Given the description of an element on the screen output the (x, y) to click on. 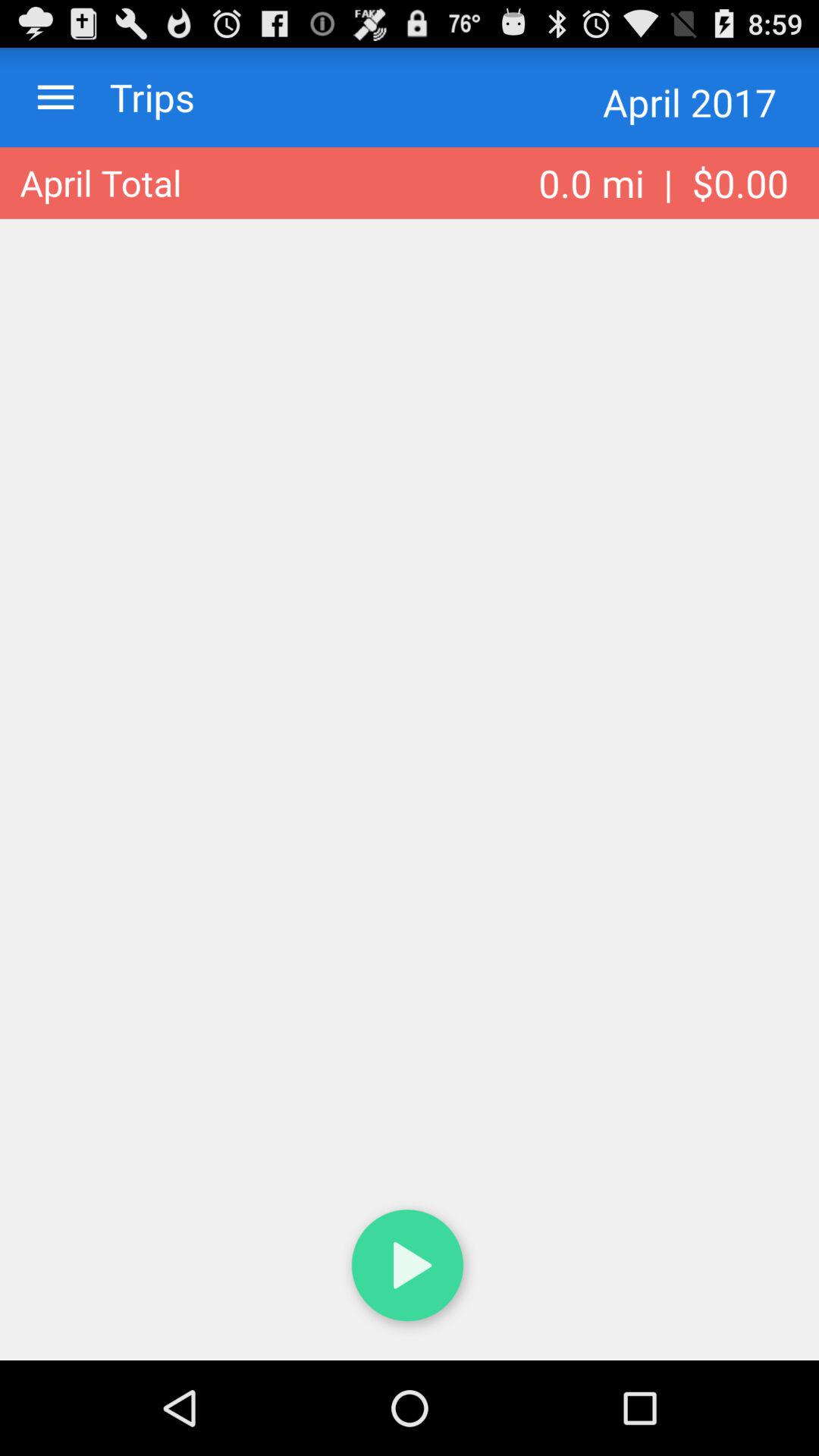
click to menu (55, 97)
